Given the description of an element on the screen output the (x, y) to click on. 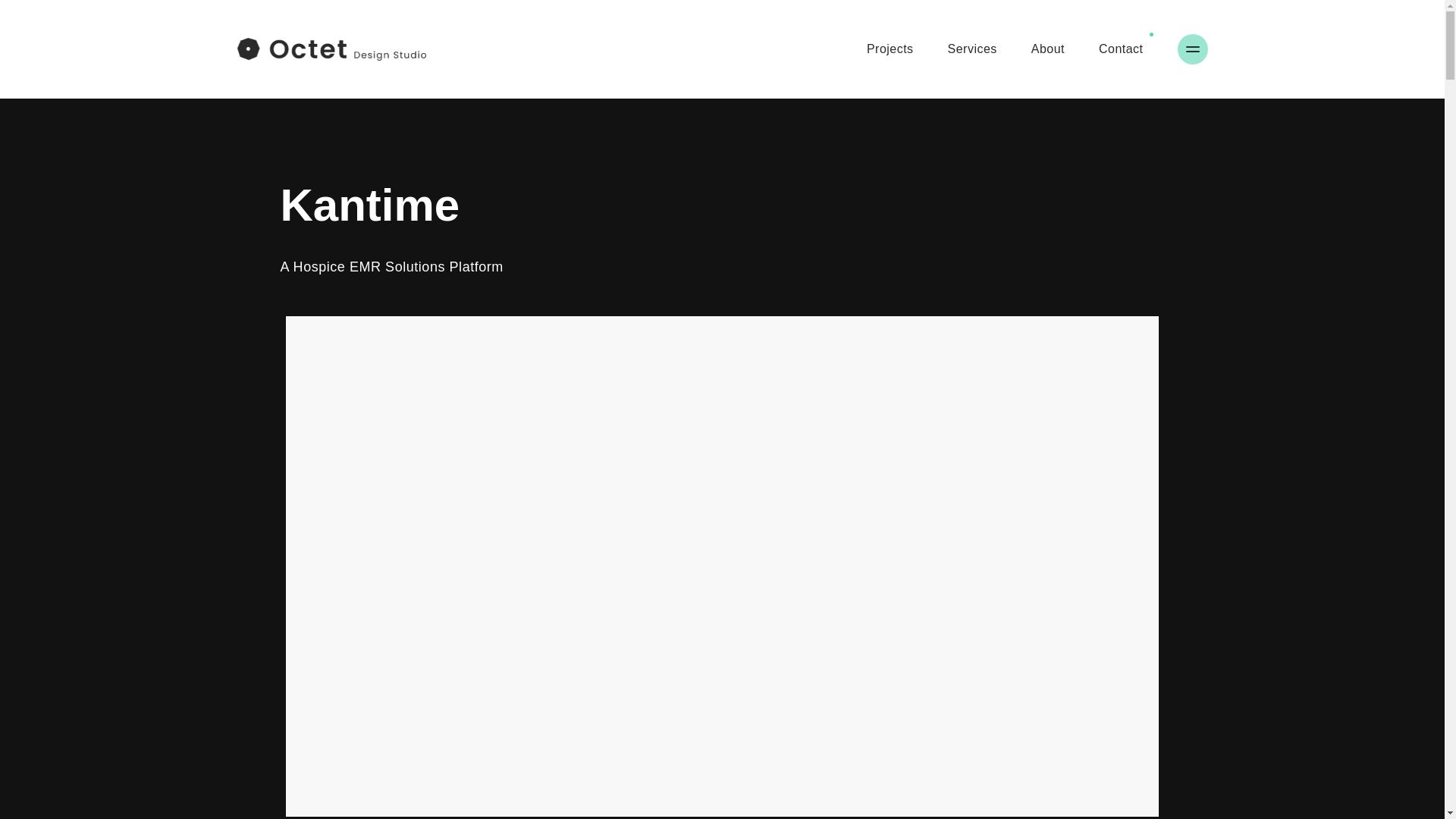
Services (972, 48)
Projects (890, 48)
Octet Design Studio (330, 48)
About (1047, 48)
Contact (1120, 48)
